Given the description of an element on the screen output the (x, y) to click on. 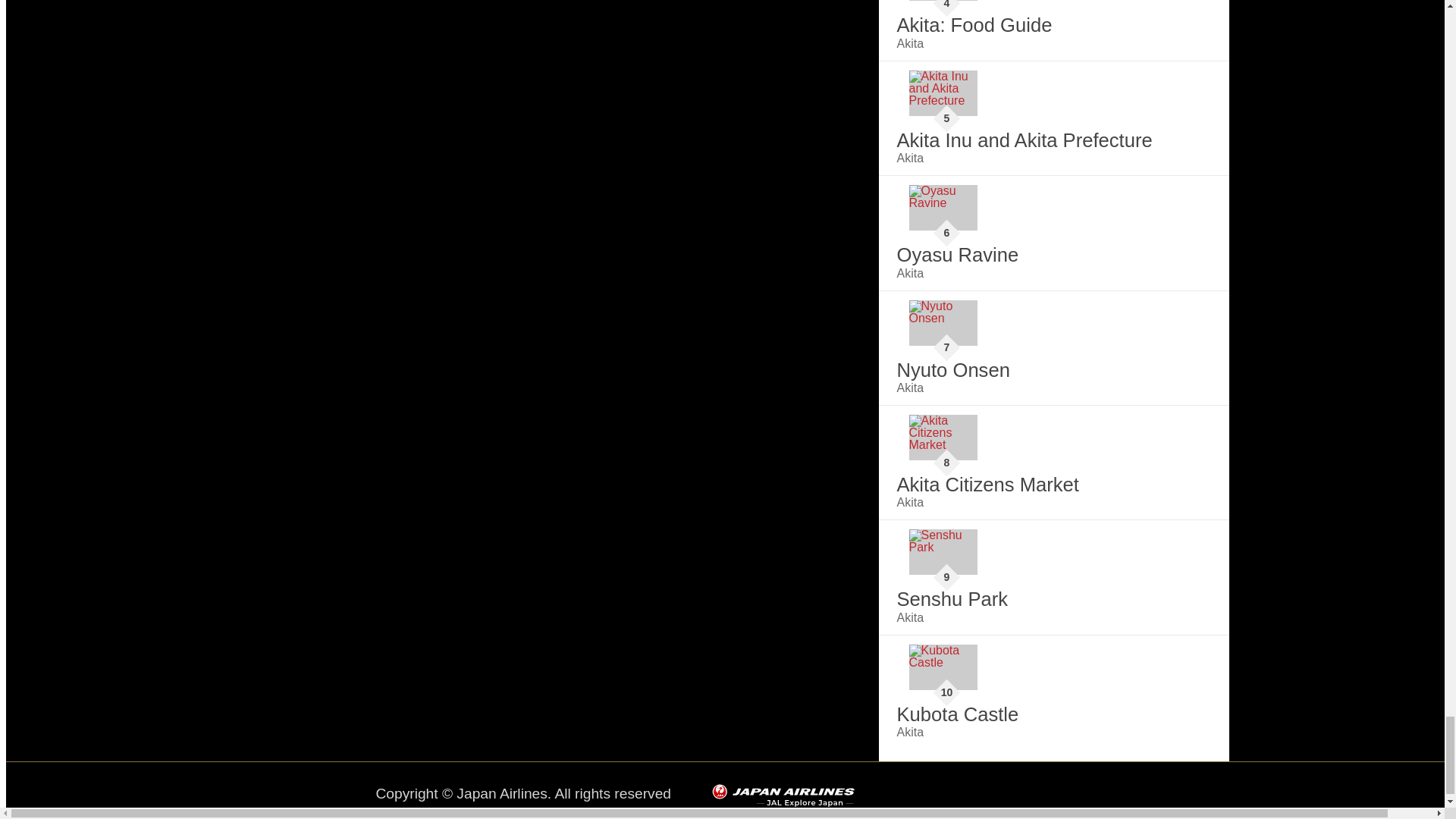
Oyasu Ravine (942, 207)
Nyuto Onsen (942, 322)
Akita Inu and Akita Prefecture (942, 93)
Akita: Food Guide (942, 0)
